Given the description of an element on the screen output the (x, y) to click on. 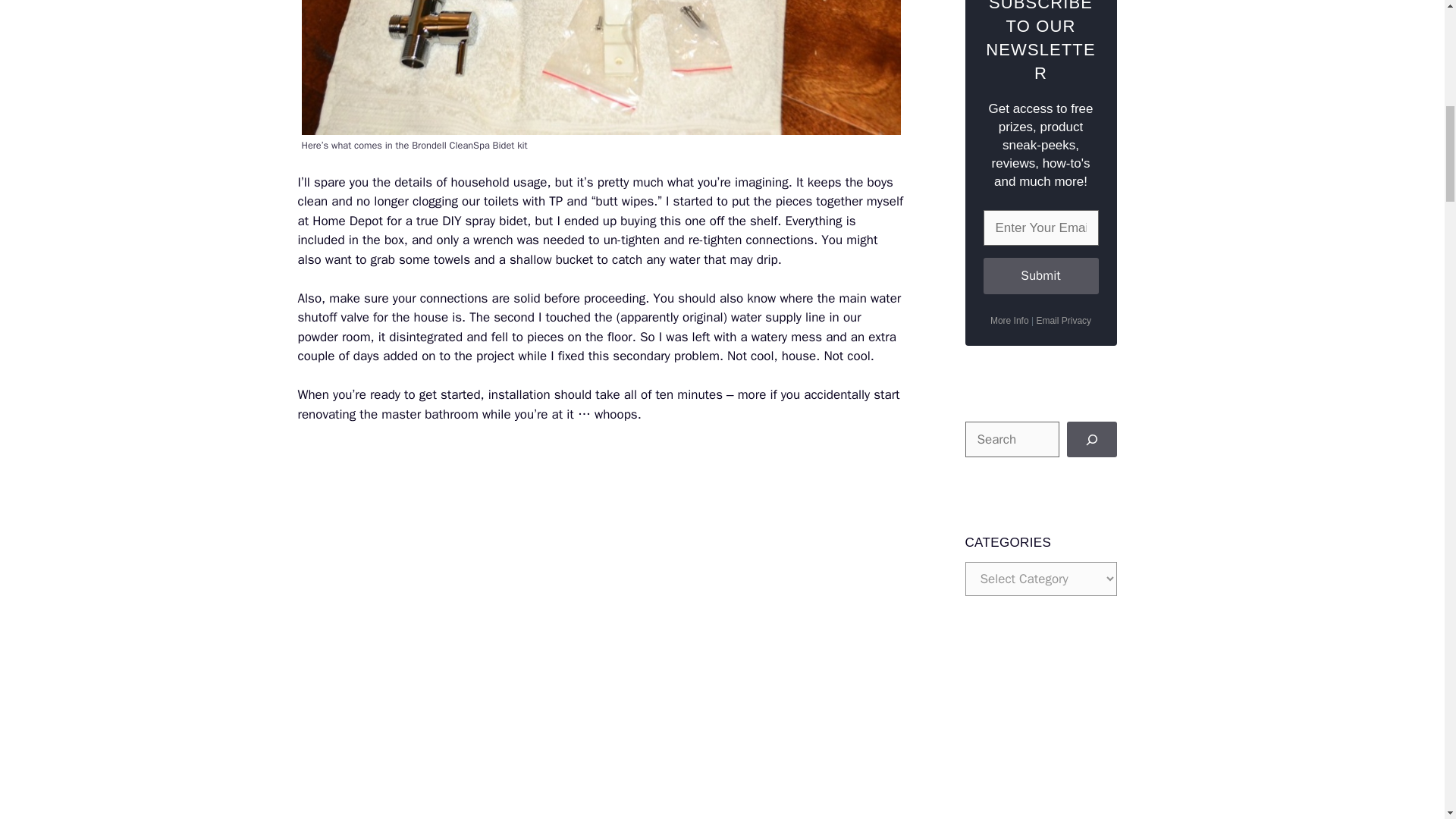
Submit (1039, 275)
Scroll back to top (1406, 720)
